Given the description of an element on the screen output the (x, y) to click on. 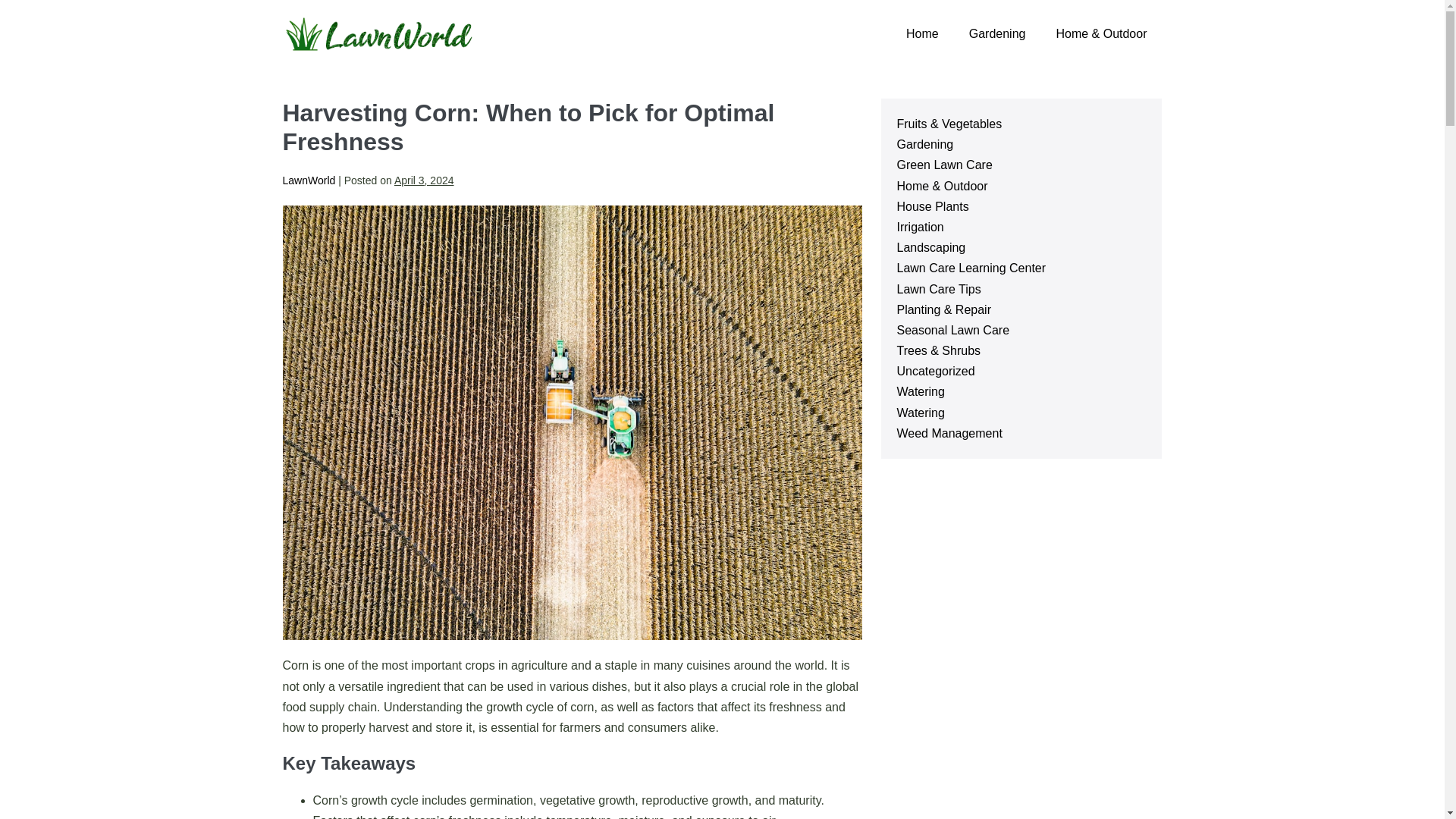
Home (922, 33)
Weed Management (948, 432)
LawnWorld (308, 180)
Watering (919, 412)
View all posts by LawnWorld (308, 180)
Lawn Care Tips (937, 287)
Gardening (997, 33)
Irrigation (919, 226)
Seasonal Lawn Care (952, 329)
Lawn Care Learning Center (970, 267)
Watering (919, 391)
Lawn World - Everything Outdoor (376, 34)
Gardening (924, 144)
Uncategorized (935, 370)
House Plants (932, 205)
